Given the description of an element on the screen output the (x, y) to click on. 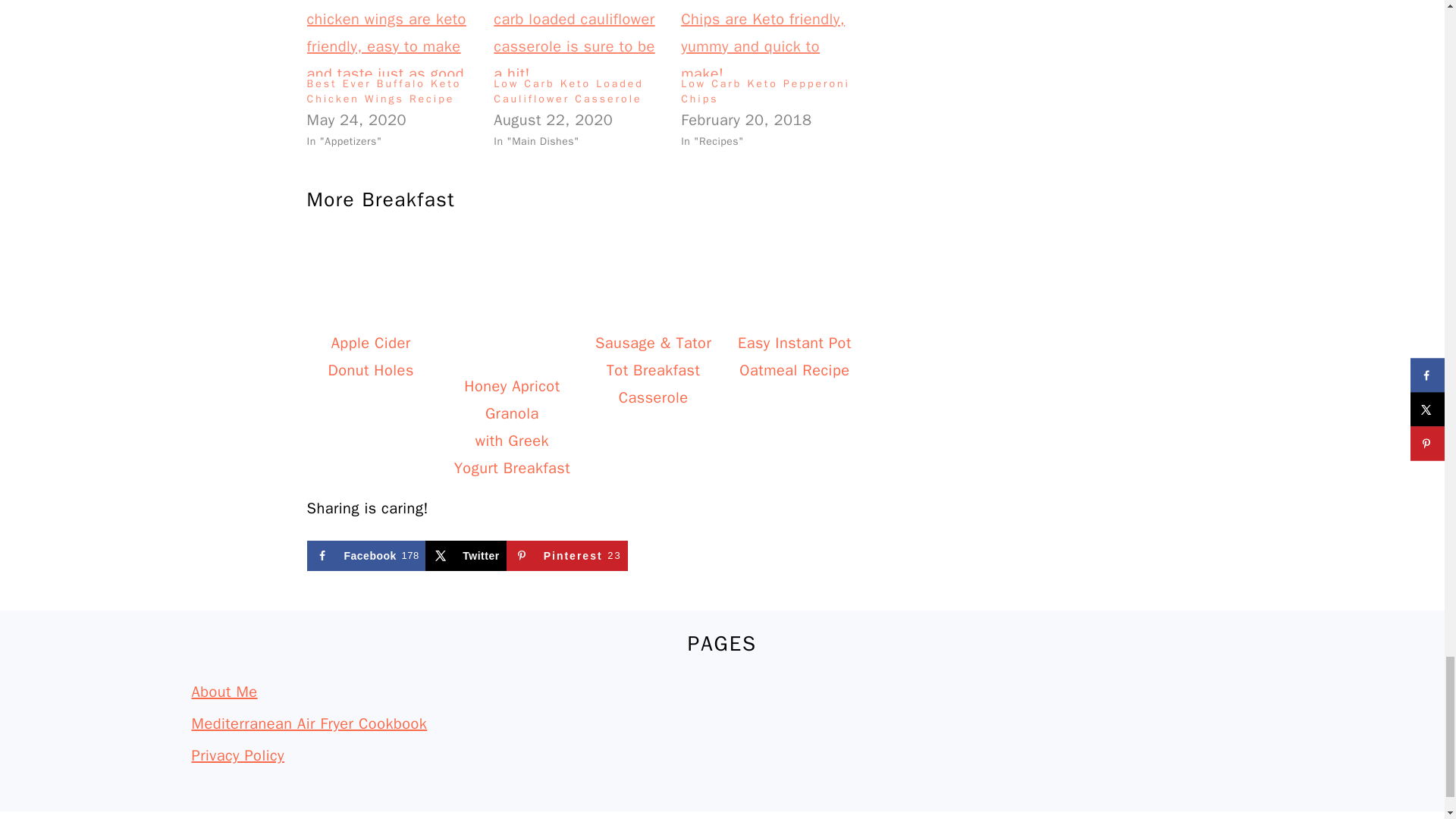
Low Carb Keto Loaded Cauliflower Casserole (579, 38)
Best Ever Buffalo Keto Chicken Wings Recipe (383, 90)
Low Carb Keto Loaded Cauliflower Casserole (568, 90)
Best Ever Buffalo Keto Chicken Wings Recipe (392, 38)
